Given the description of an element on the screen output the (x, y) to click on. 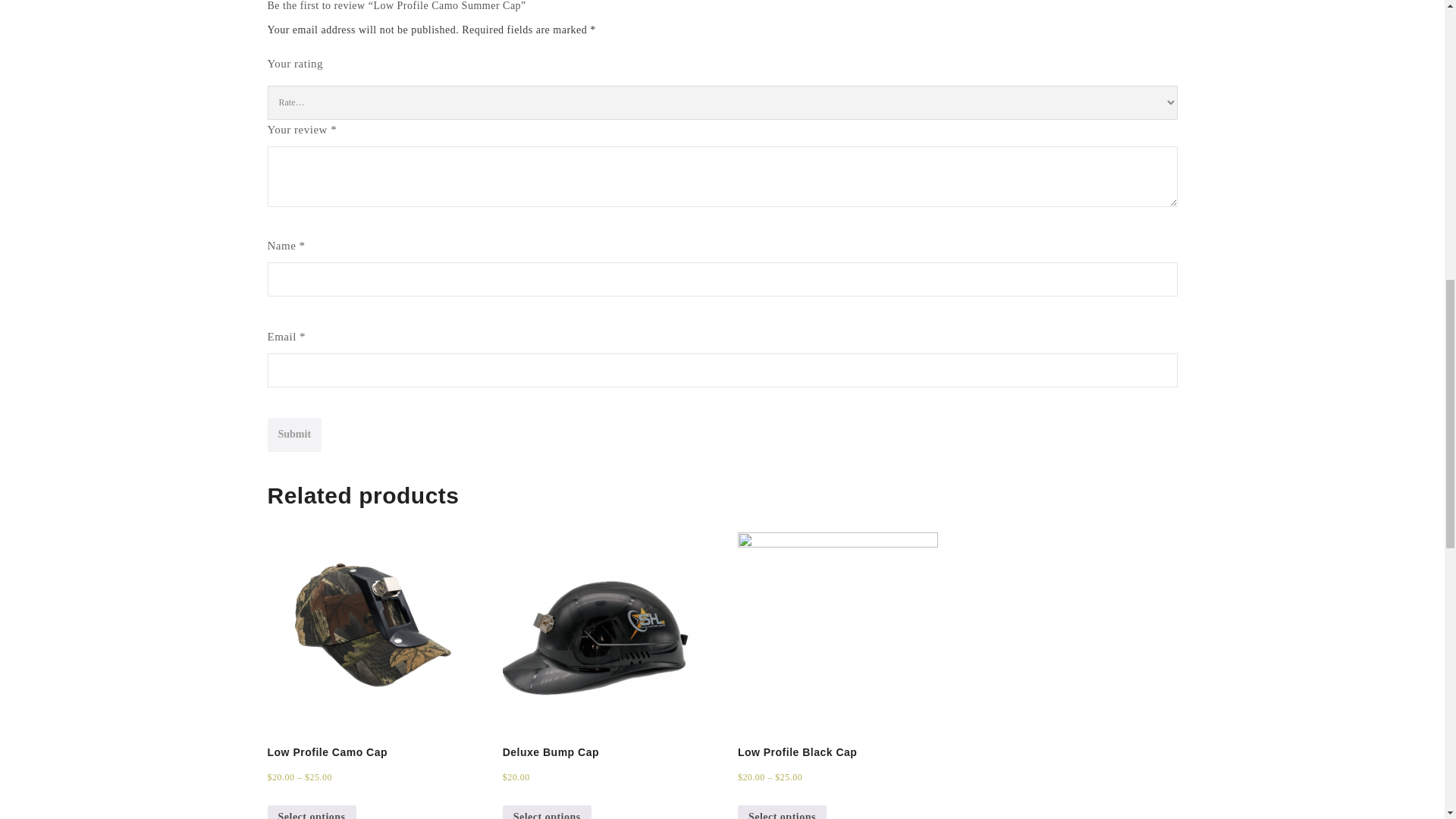
Select options (546, 812)
Select options (310, 812)
Submit (293, 434)
Submit (293, 434)
